Given the description of an element on the screen output the (x, y) to click on. 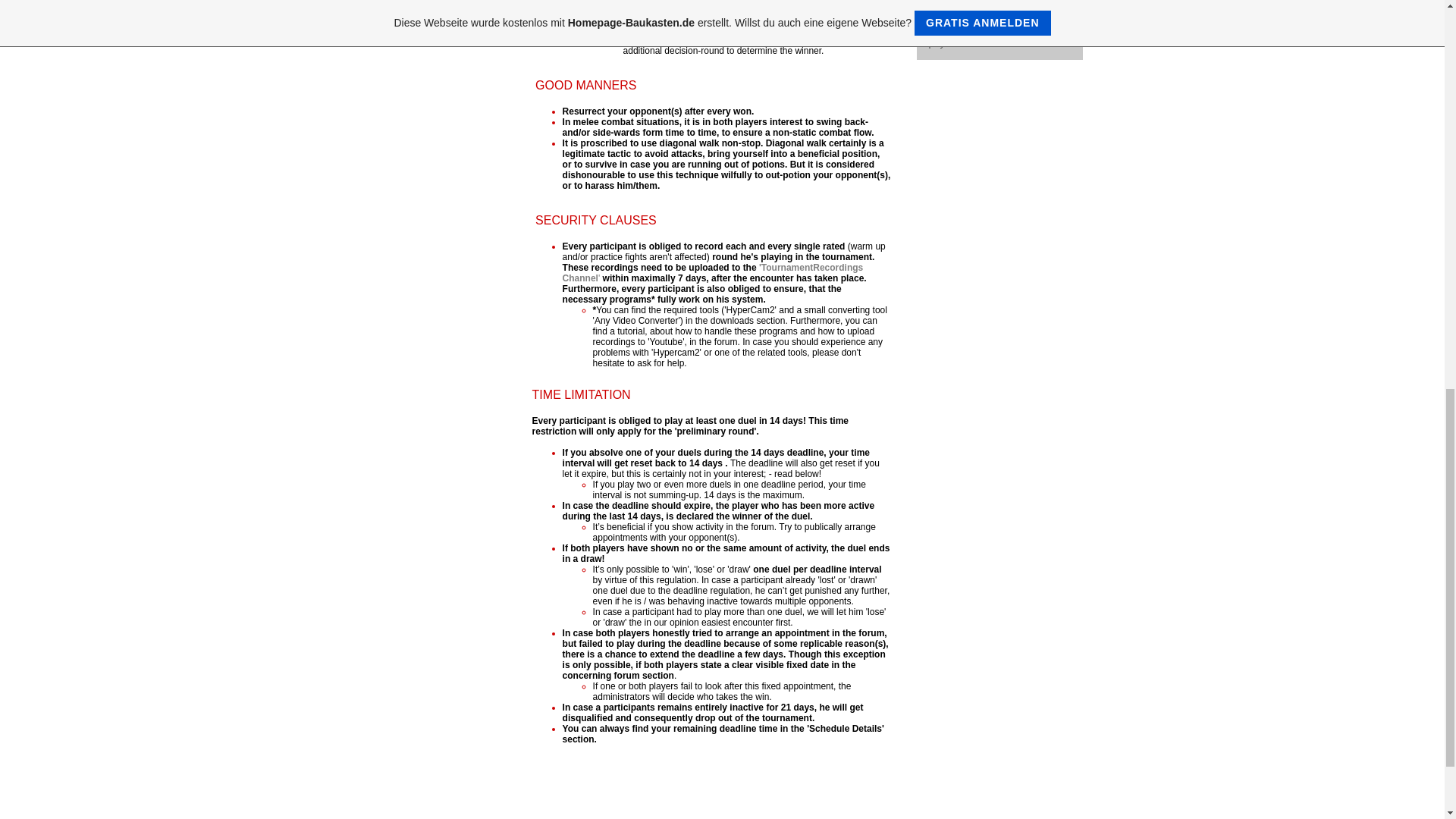
'TournamentRecordings Channel'  (712, 272)
